Given the description of an element on the screen output the (x, y) to click on. 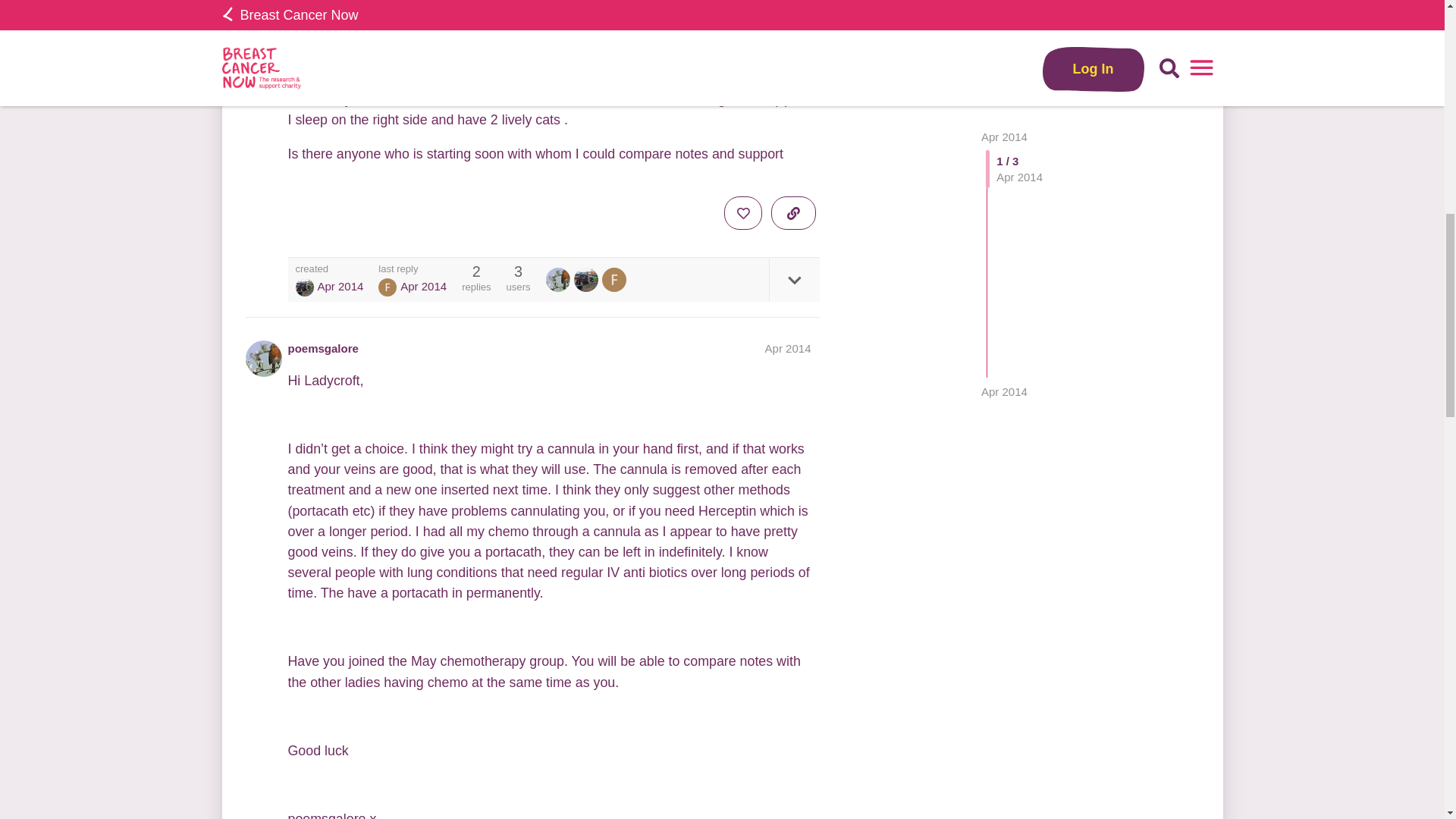
poemsgalore (558, 279)
ladycroft (304, 287)
poemsgalore (323, 348)
24 Apr 2014 18:37 (1004, 65)
like this post (742, 213)
last reply (412, 268)
poemsgalore (559, 279)
24 Apr 2014 18:37 (423, 286)
expand topic details (793, 279)
Apr 2014 (1004, 65)
22 Apr 2014 20:49 (339, 286)
Apr 2014 (787, 348)
fowey (387, 287)
copy a link to this post to clipboard (793, 213)
